Given the description of an element on the screen output the (x, y) to click on. 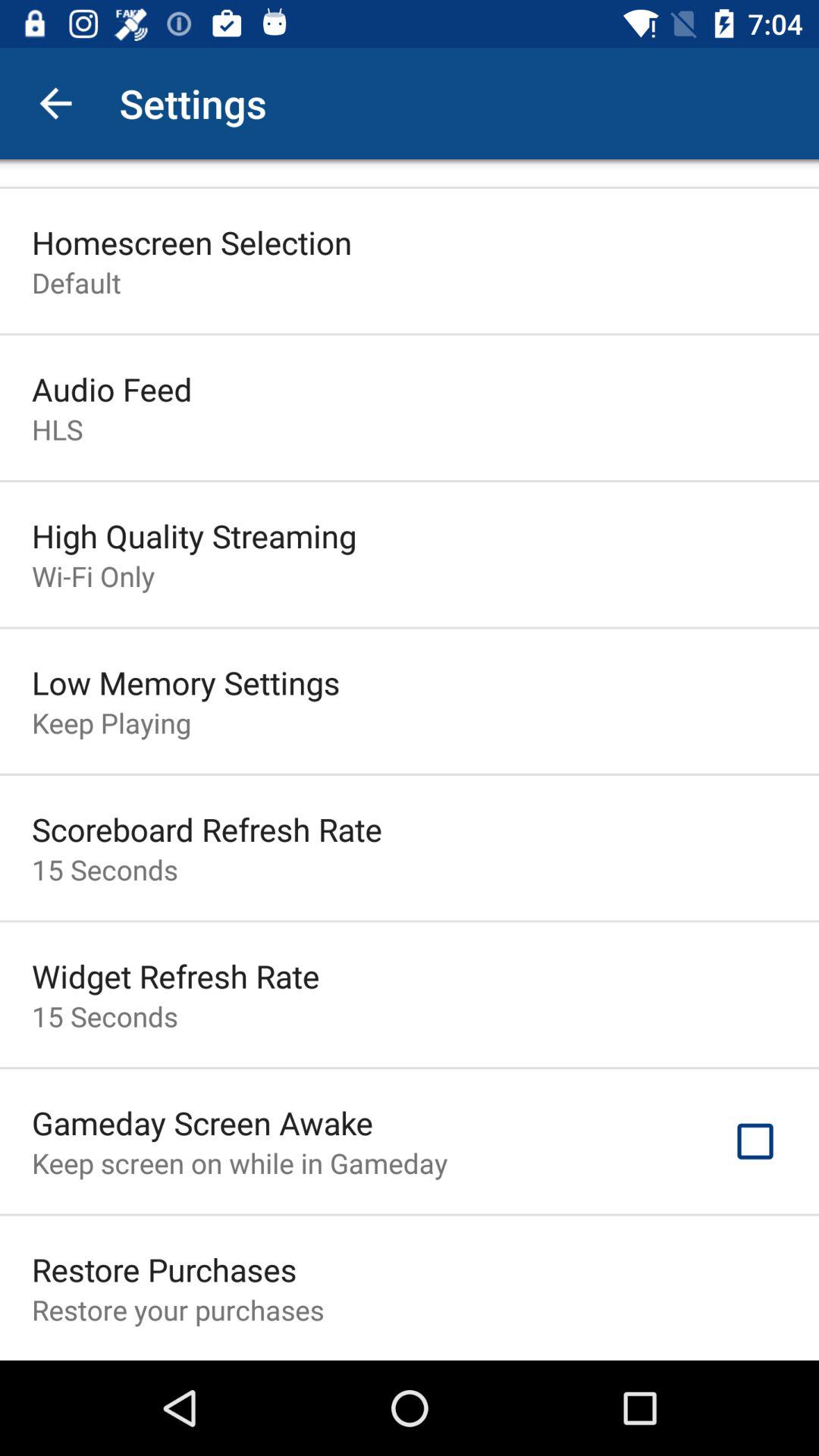
choose the high quality streaming (193, 535)
